Given the description of an element on the screen output the (x, y) to click on. 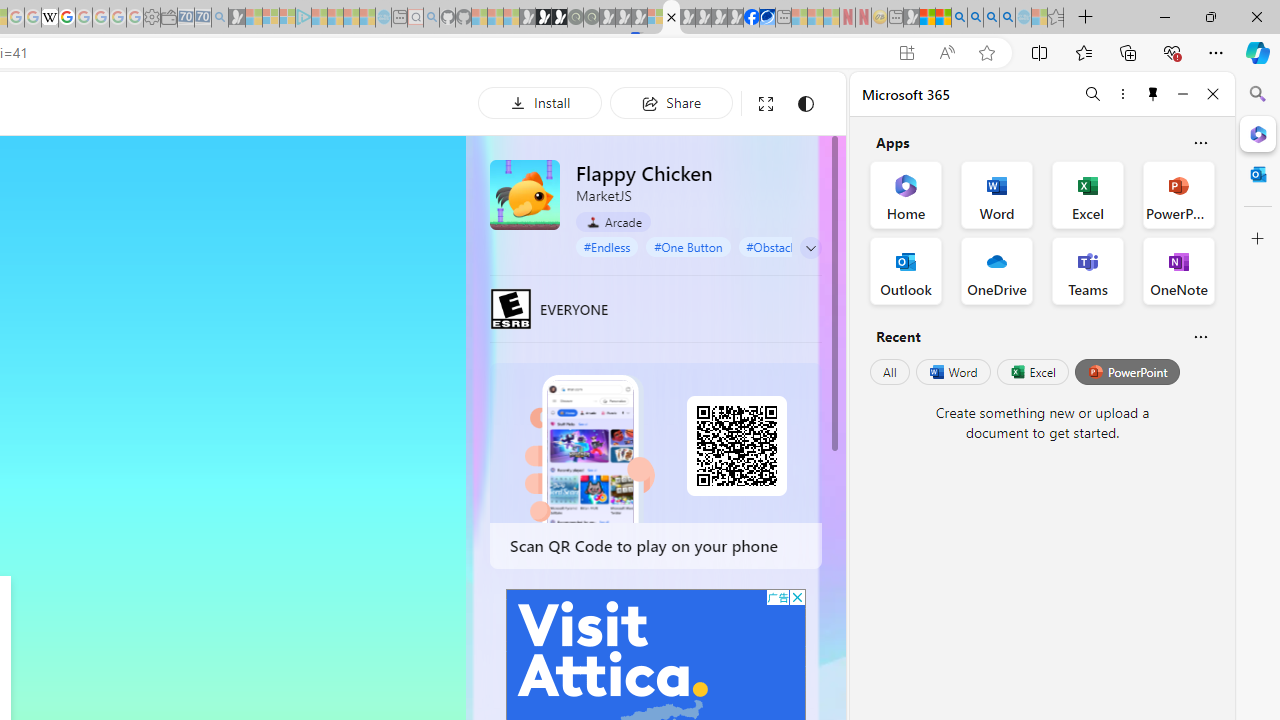
Full screen (765, 103)
OneDrive Office App (996, 270)
EVERYONE (511, 308)
MSN - Sleeping (911, 17)
#Endless (607, 246)
